Given the description of an element on the screen output the (x, y) to click on. 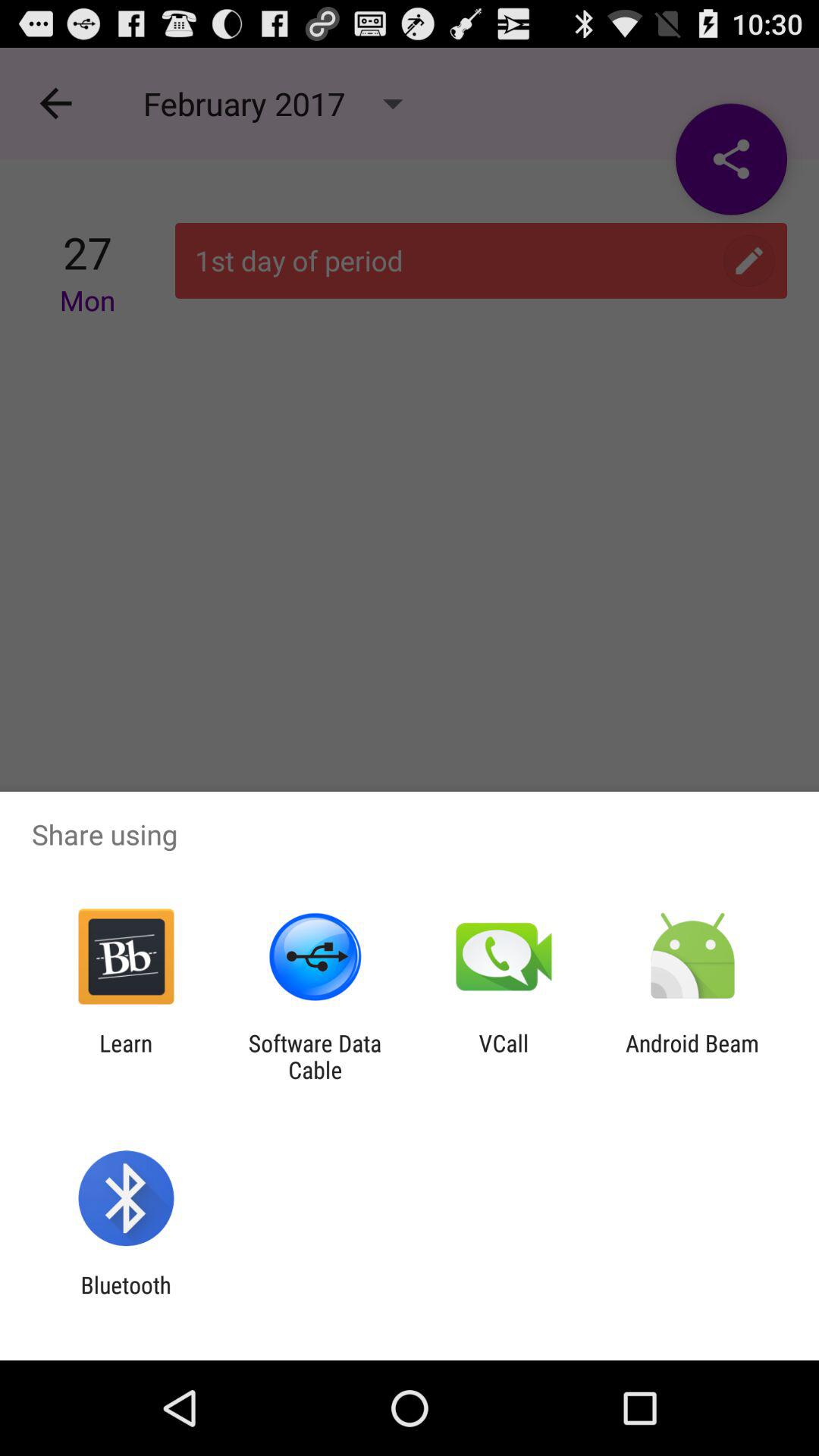
press the software data cable app (314, 1056)
